Given the description of an element on the screen output the (x, y) to click on. 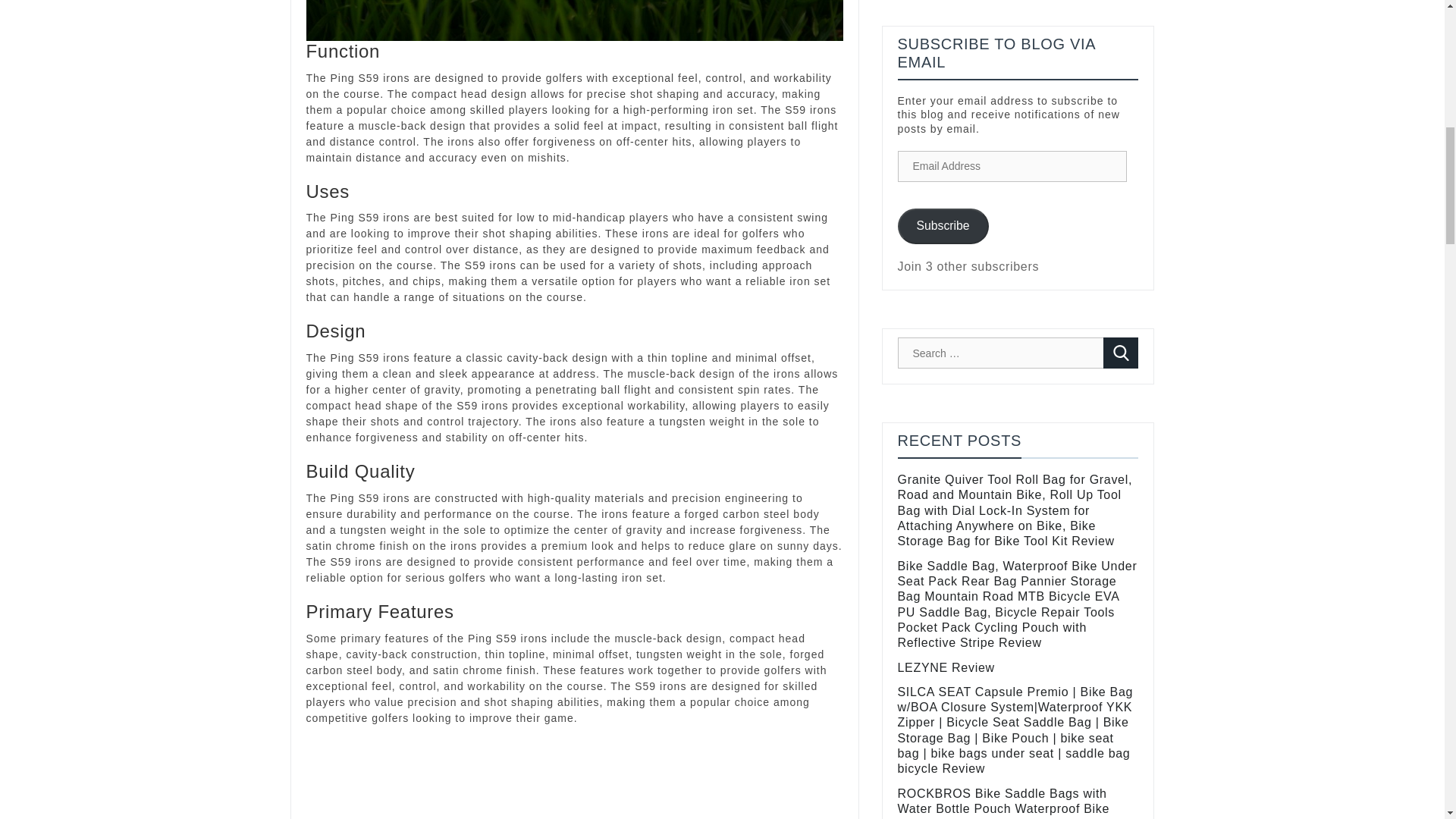
ping s59 irons review (574, 20)
Search (1120, 352)
Search (1120, 352)
